Given the description of an element on the screen output the (x, y) to click on. 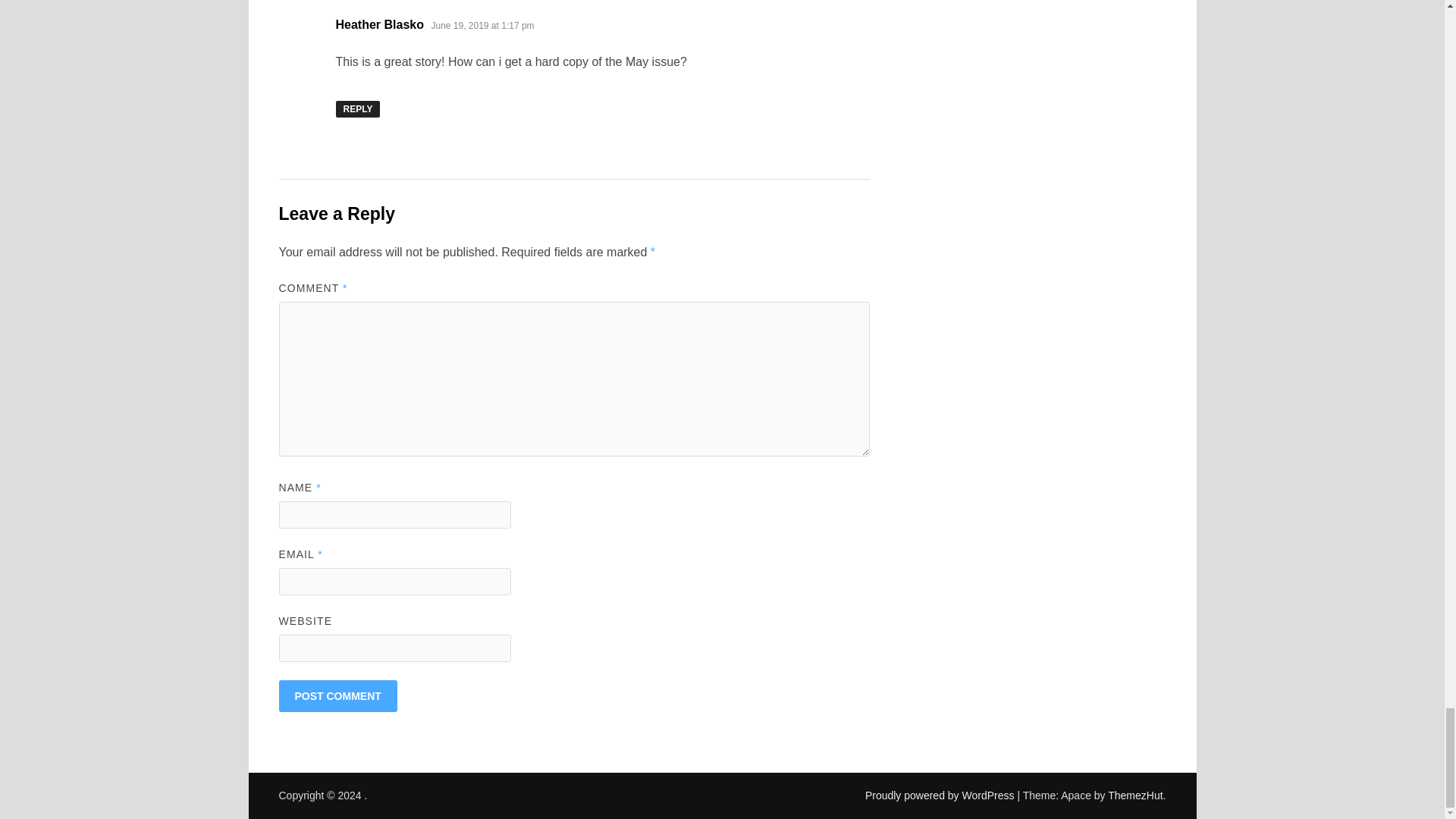
REPLY (357, 108)
Heather Blasko (378, 24)
Post Comment (338, 695)
Post Comment (338, 695)
June 19, 2019 at 1:17 pm (482, 25)
